Given the description of an element on the screen output the (x, y) to click on. 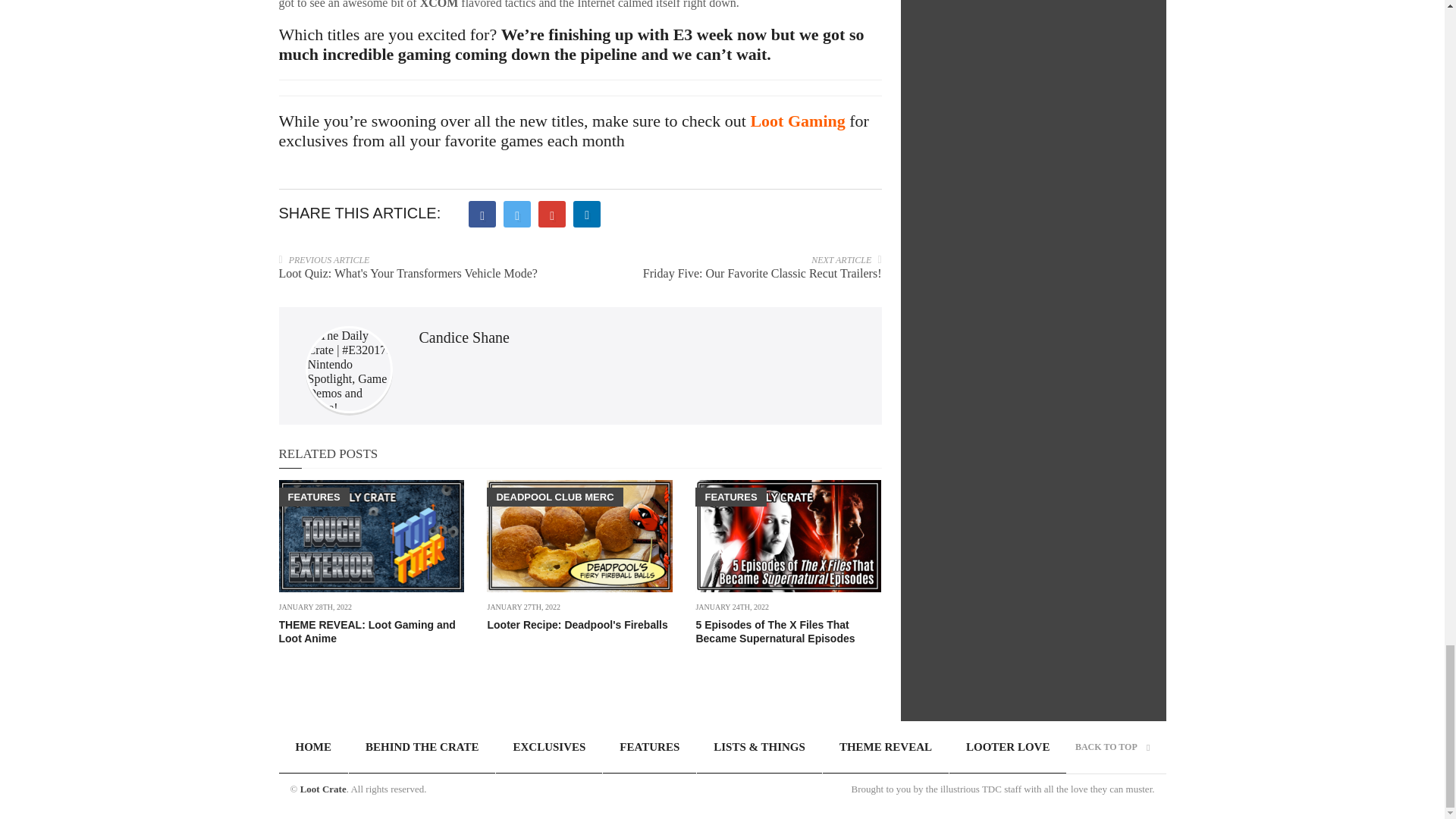
DEADPOOL CLUB MERC (554, 496)
Candice Shane (463, 337)
Friday Five: Our Favorite Classic Recut Trailers! (762, 273)
FEATURES (314, 496)
Loot Gaming (796, 120)
Posts by Candice Shane (463, 337)
BACK TO TOP (1112, 747)
Loot Quiz: What's Your Transformers Vehicle Mode? (408, 273)
THEME REVEAL: Loot Gaming and Loot Anime (367, 631)
Friday Five: Our Favorite Classic Recut Trailers! (762, 273)
